Given the description of an element on the screen output the (x, y) to click on. 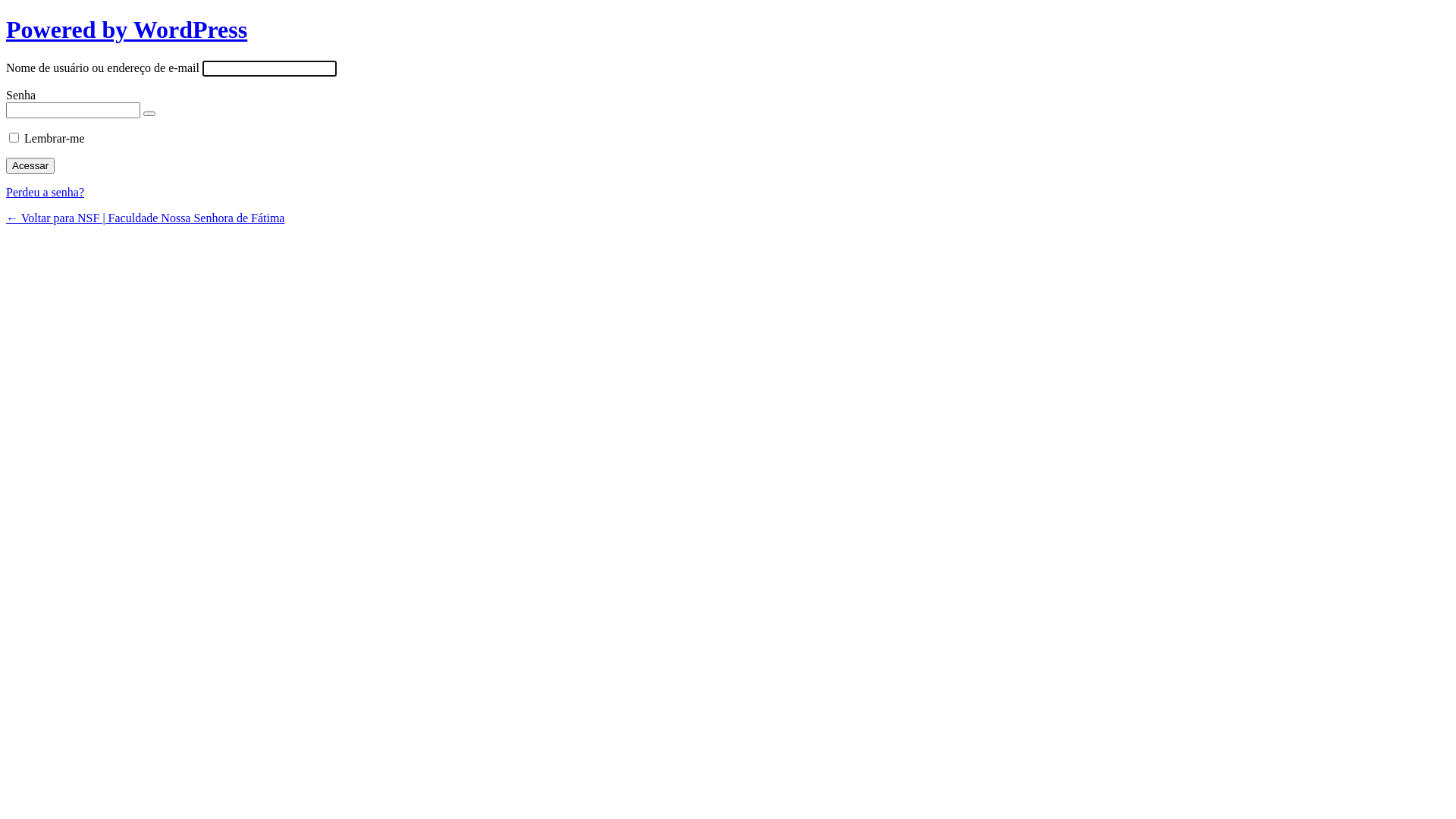
Acessar Element type: text (30, 165)
Perdeu a senha? Element type: text (45, 191)
Powered by WordPress Element type: text (126, 29)
